Given the description of an element on the screen output the (x, y) to click on. 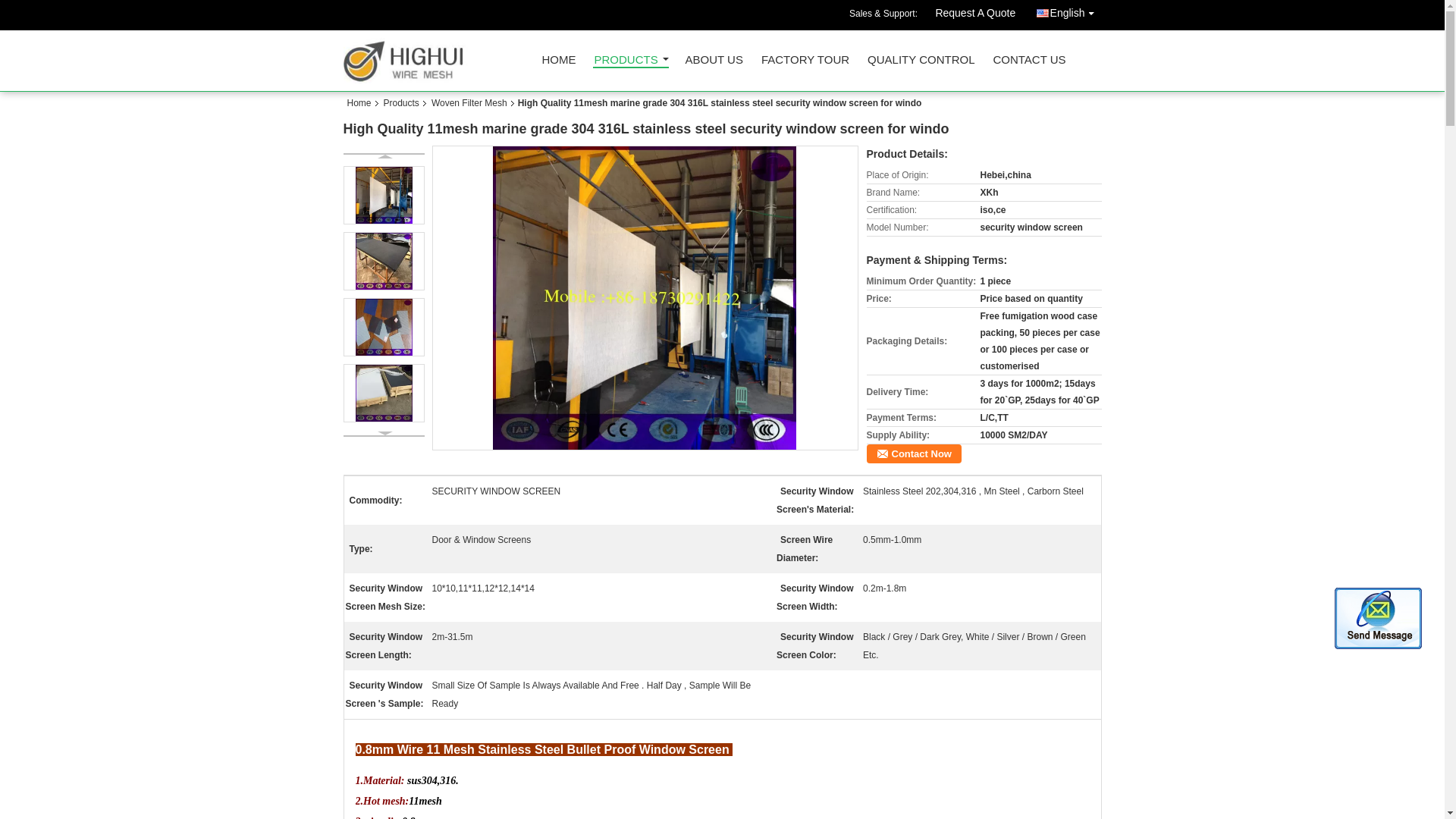
Xing Kuan Highui Wire Mesh Products Co.,ltd (630, 60)
PRODUCTS (630, 60)
English (1067, 11)
CONTACT US (1029, 63)
QUALITY CONTROL (920, 63)
Products (401, 102)
Request A Quote (974, 15)
Woven Filter Mesh (469, 102)
Xing Kuan Highui Wire Mesh Products Co.,ltd (974, 15)
HOME (558, 63)
Home (362, 102)
Xing Kuan Highui Wire Mesh Products Co.,ltd (558, 63)
FACTORY TOUR (805, 63)
ABOUT US (714, 63)
